Given the description of an element on the screen output the (x, y) to click on. 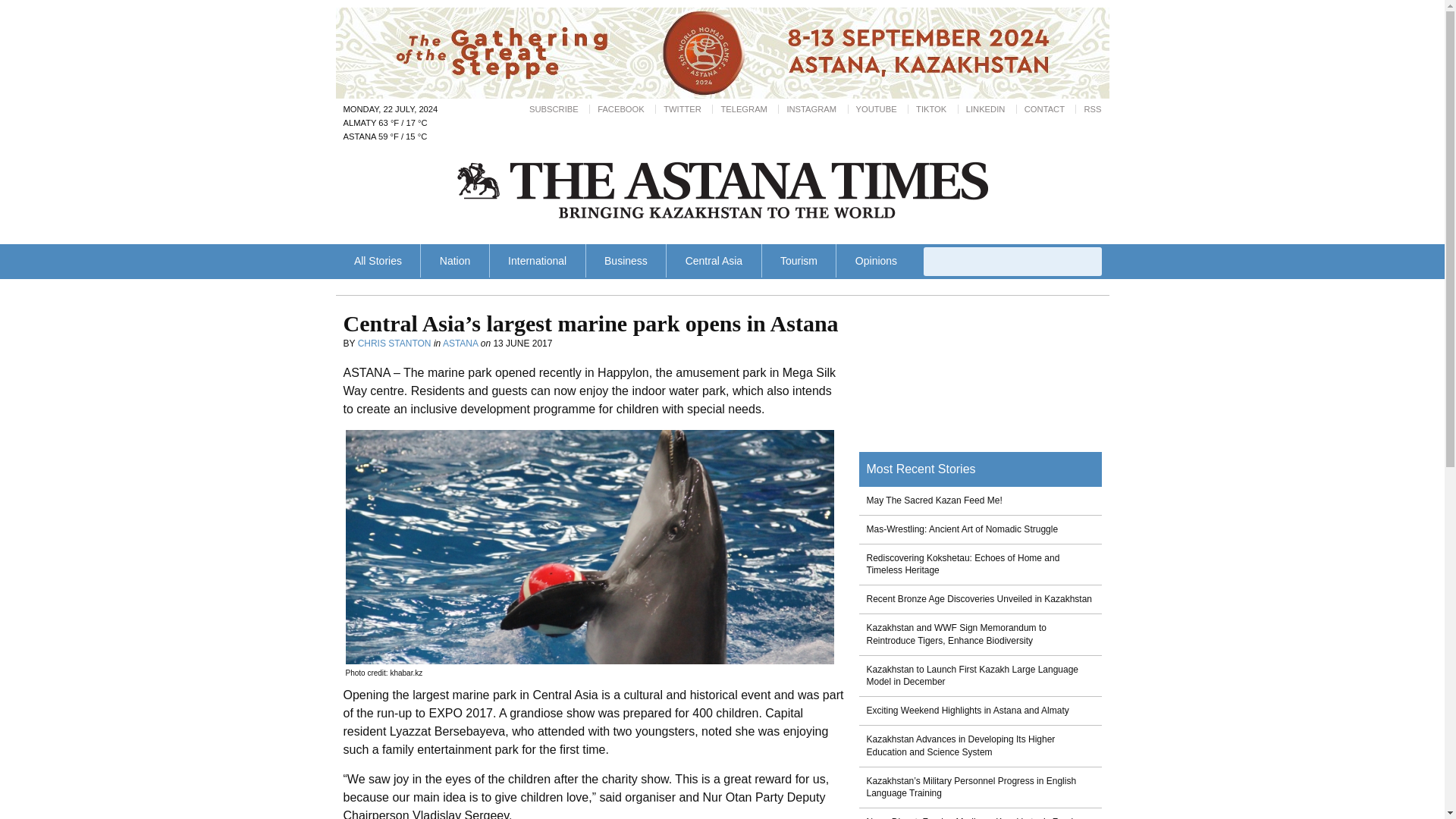
FACEBOOK (620, 108)
TWITTER (682, 108)
TIKTOK (930, 108)
TELEGRAM (743, 108)
CONTACT (1044, 108)
LINKEDIN (986, 108)
INSTAGRAM (810, 108)
SUBSCRIBE (553, 108)
RSS (1091, 108)
YOUTUBE (876, 108)
